Given the description of an element on the screen output the (x, y) to click on. 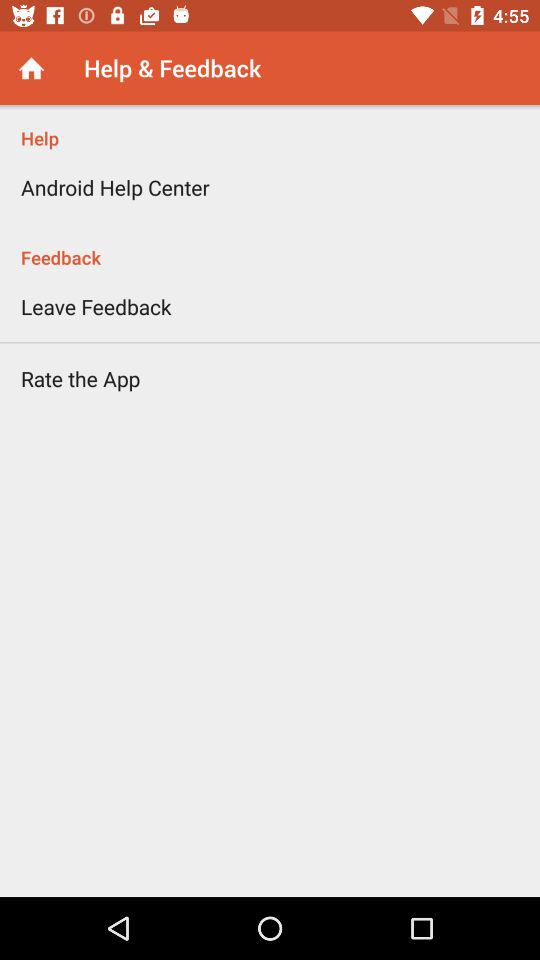
launch item below the help item (115, 187)
